Given the description of an element on the screen output the (x, y) to click on. 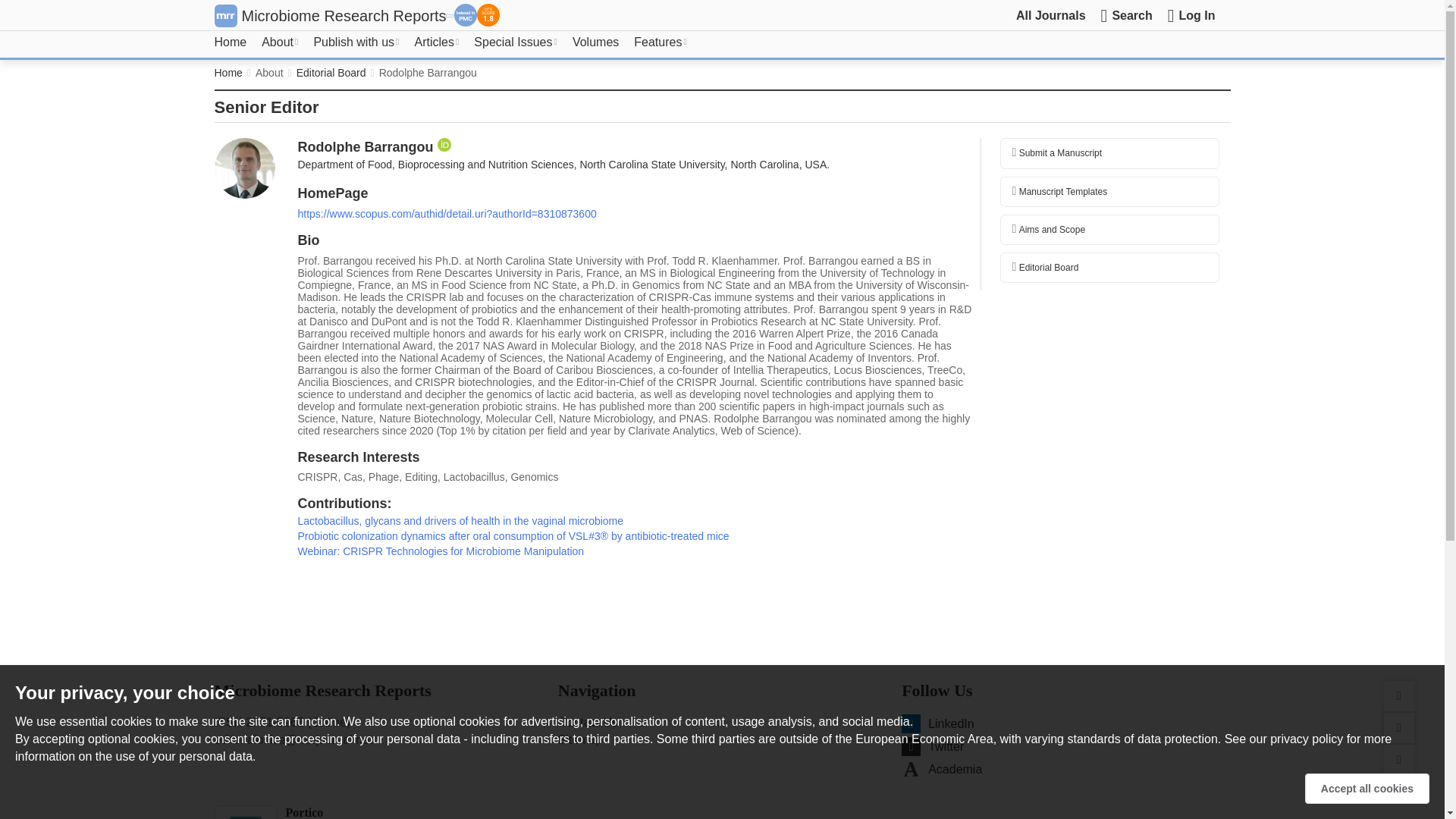
Volumes (595, 42)
Home (229, 42)
All Journals (1051, 15)
Log In (1191, 15)
Microbiome Research Reports (343, 15)
